Given the description of an element on the screen output the (x, y) to click on. 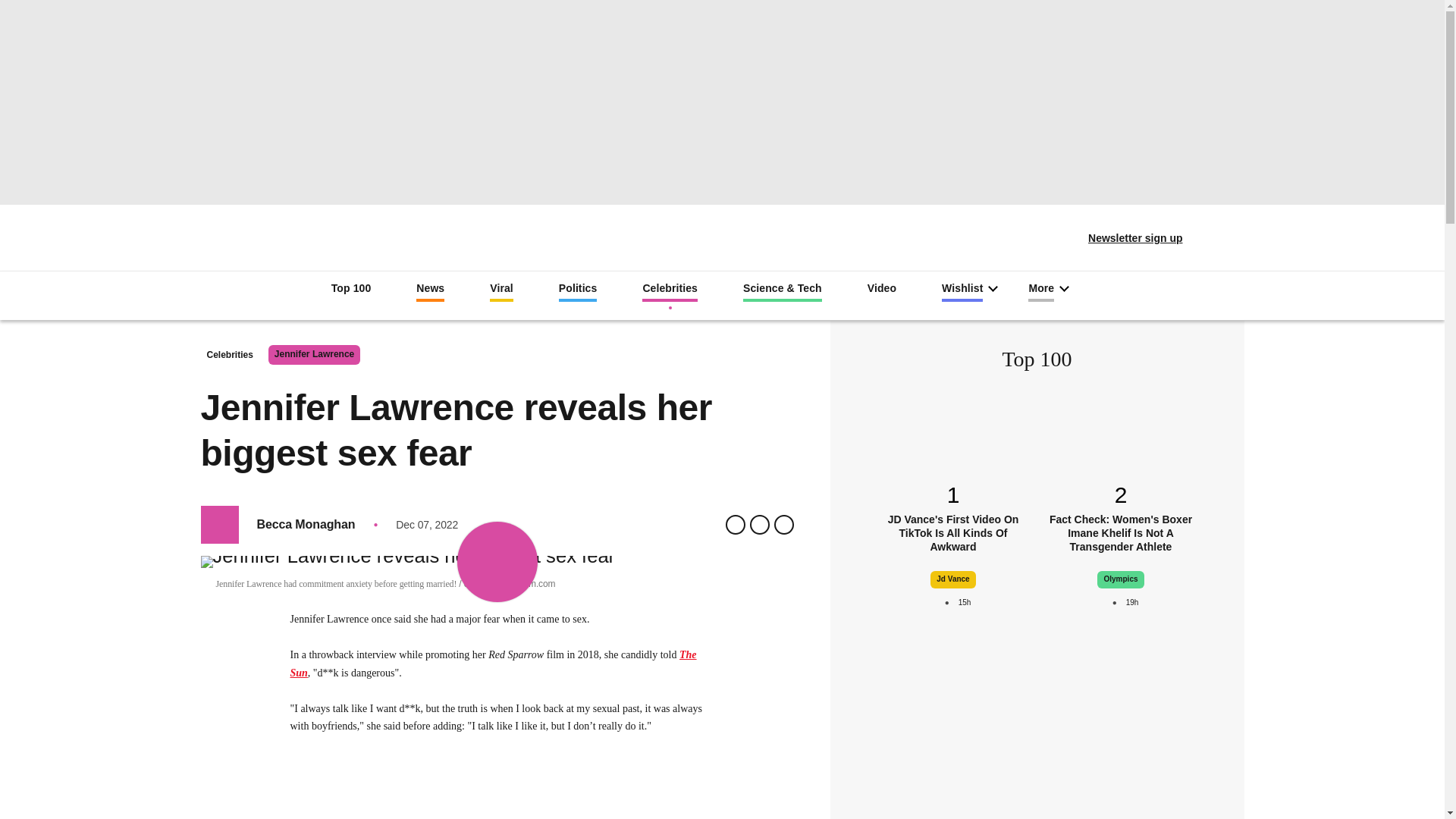
News (430, 291)
Indy100 logo (722, 232)
Top 100 (351, 289)
Politics (577, 291)
Newsletter sign up (1124, 238)
Viral (501, 291)
Celebrities (669, 291)
